Given the description of an element on the screen output the (x, y) to click on. 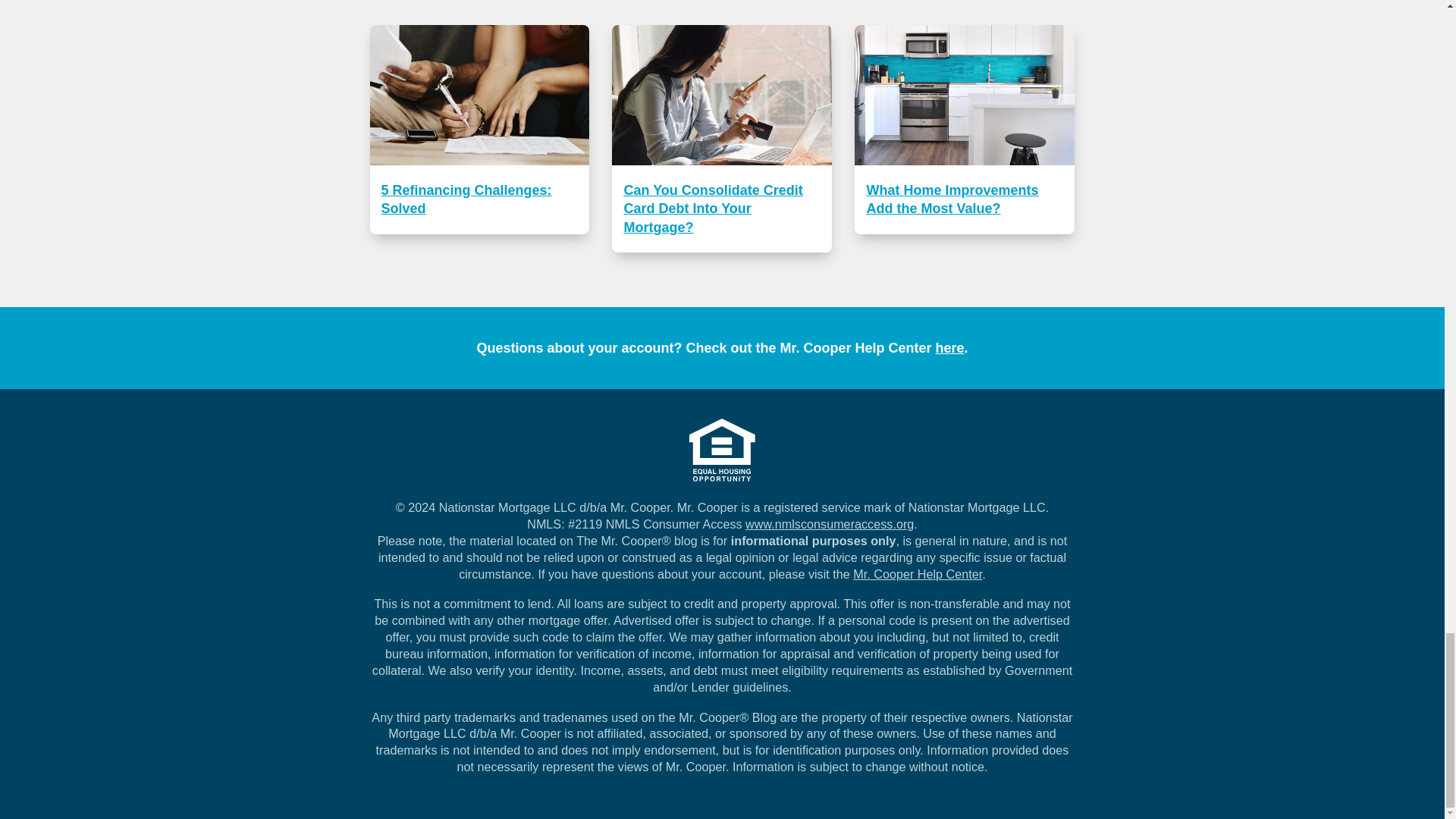
Can You Consolidate Credit Card Debt Into Your Mortgage? (721, 138)
What Home Improvements Add the Most Value? (964, 129)
5 Refinancing Challenges: Solved (479, 129)
